Given the description of an element on the screen output the (x, y) to click on. 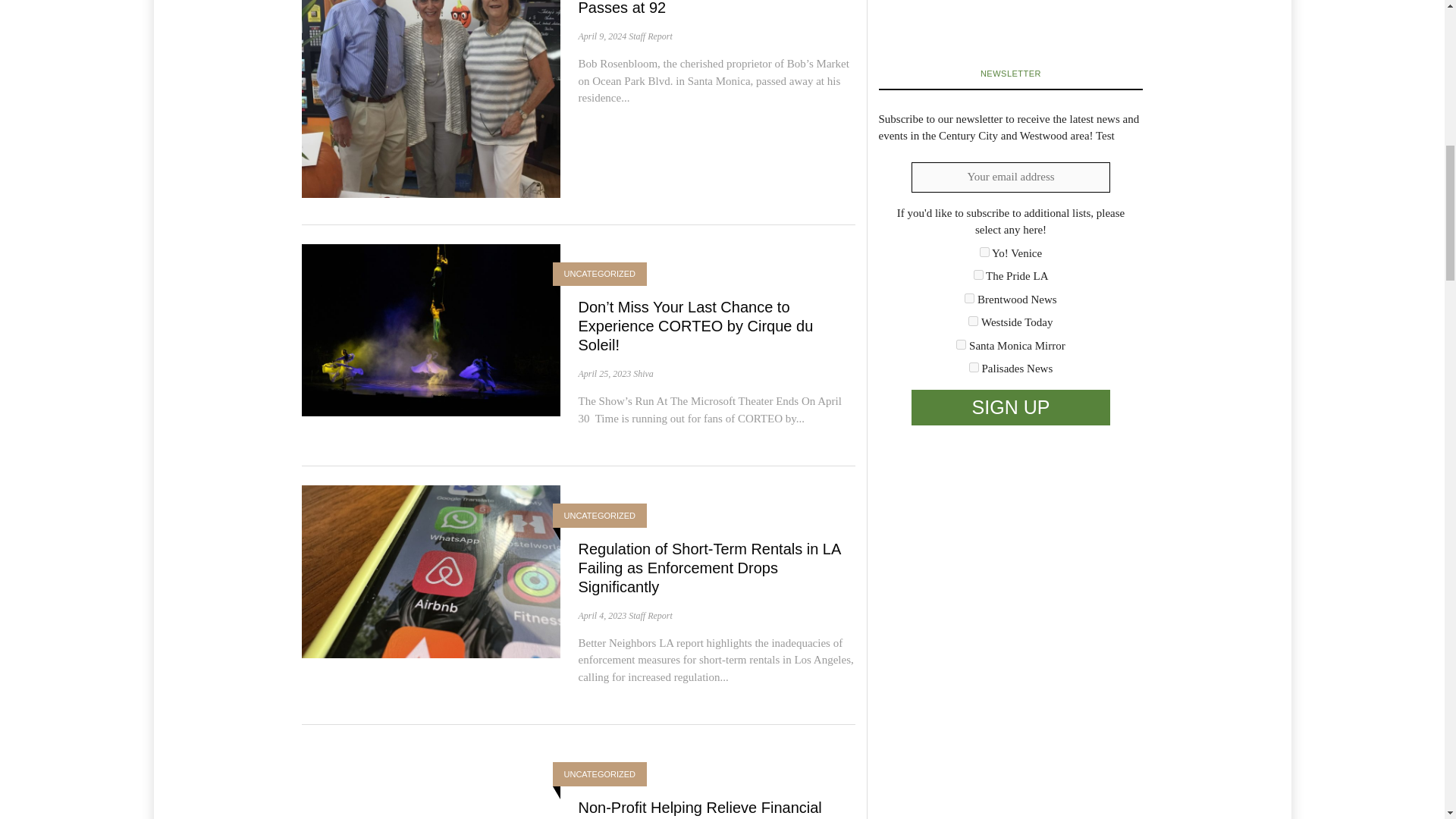
a3d1b6d535 (973, 320)
ec7d882848 (973, 367)
Posts by Staff Report (650, 36)
Sign up (1010, 407)
d0b5733862 (961, 344)
Posts by Staff Report (650, 615)
33f79e7e4d (979, 275)
